Given the description of an element on the screen output the (x, y) to click on. 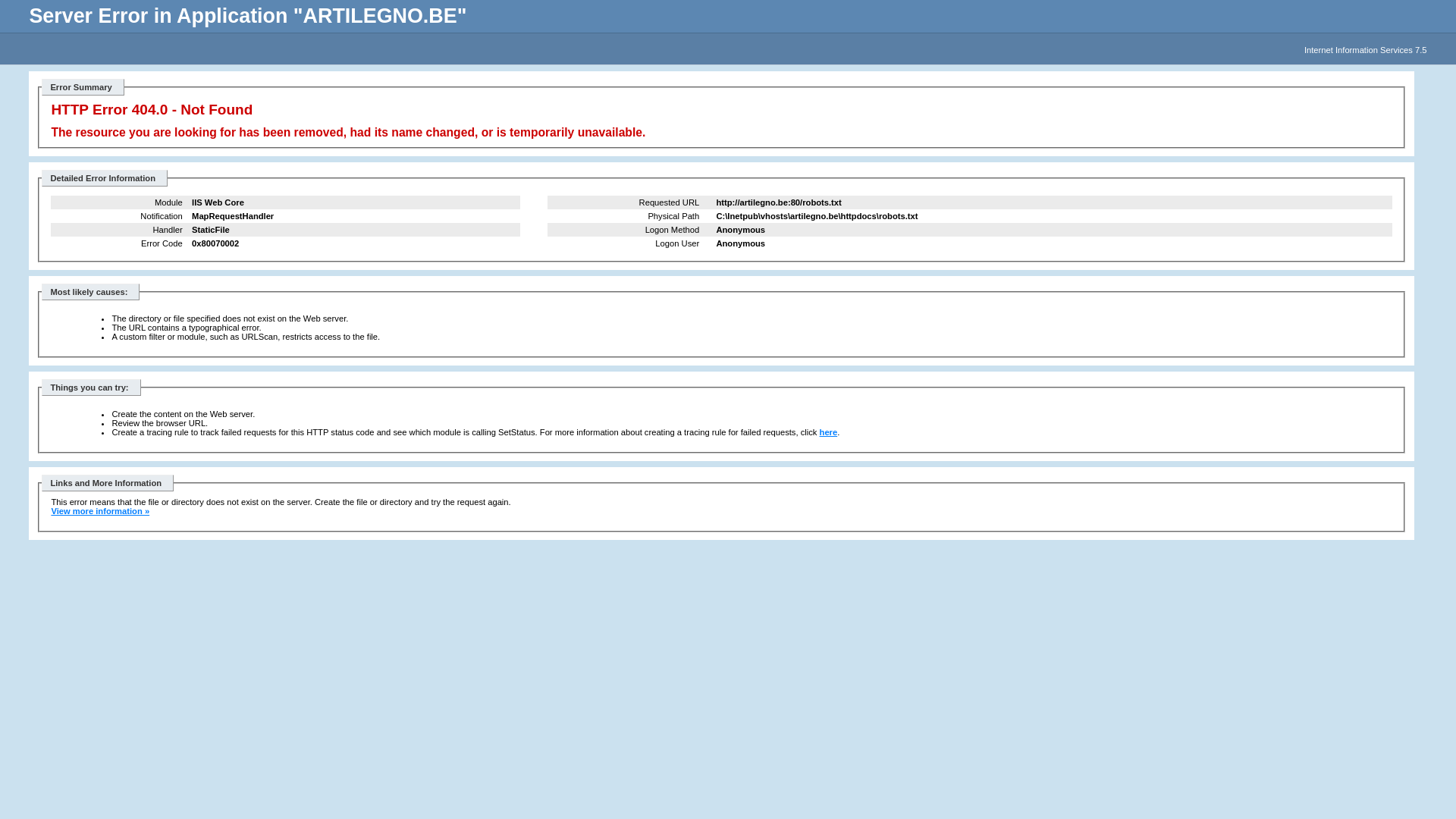
here Element type: text (828, 431)
